Given the description of an element on the screen output the (x, y) to click on. 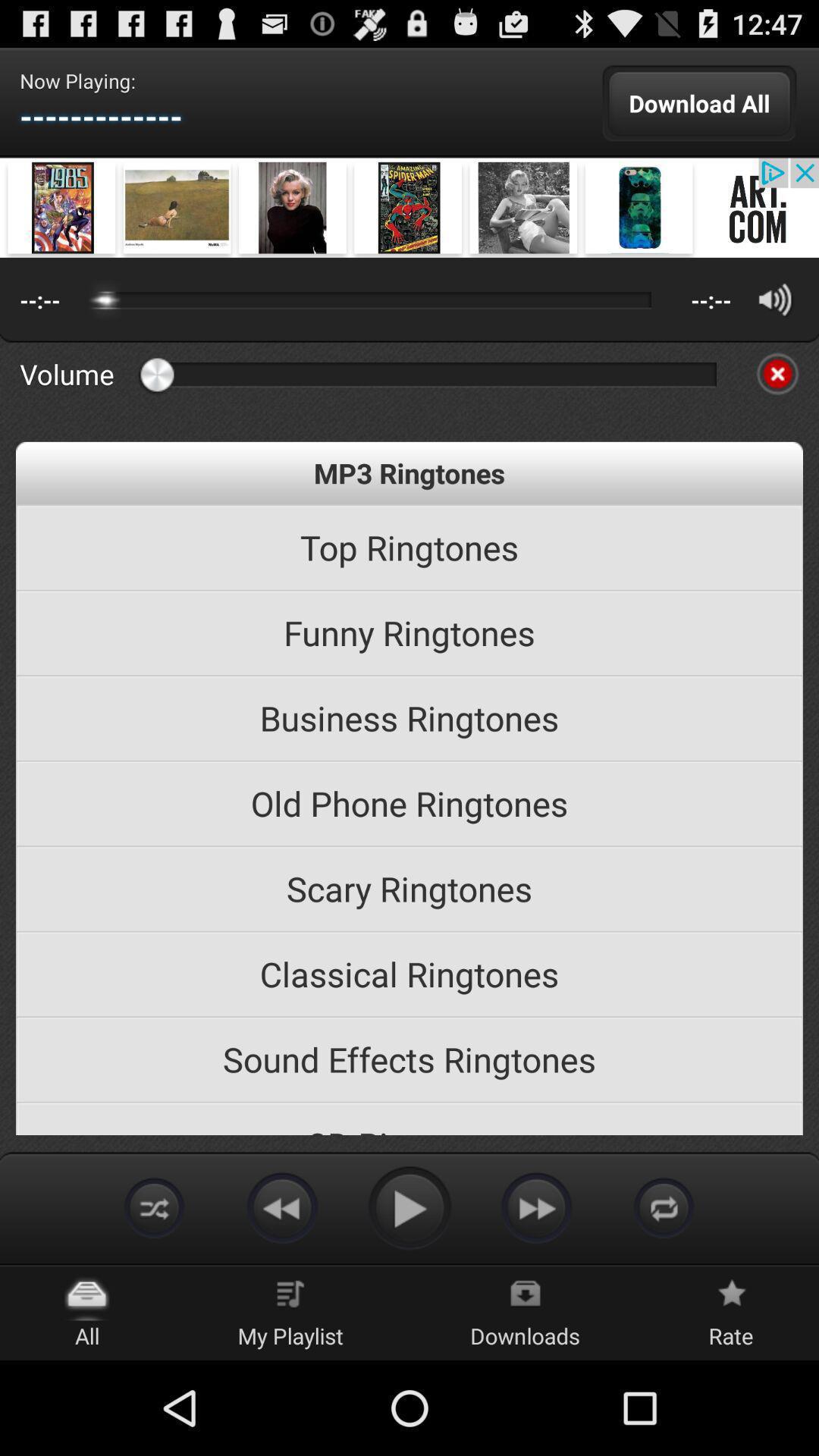
toggle shuffle (154, 1207)
